Given the description of an element on the screen output the (x, y) to click on. 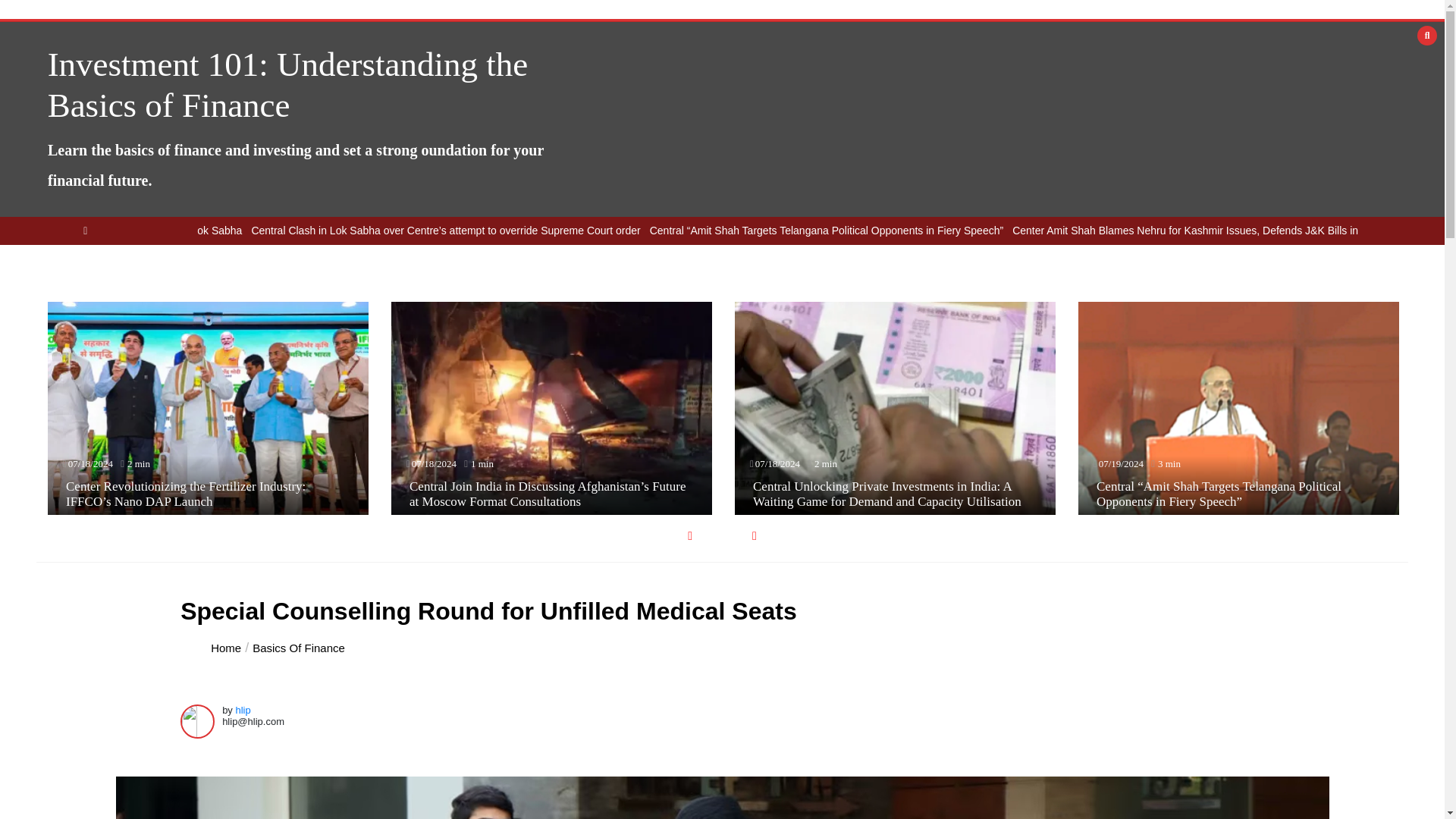
Investment 101: Understanding the Basics of Finance (288, 84)
